Given the description of an element on the screen output the (x, y) to click on. 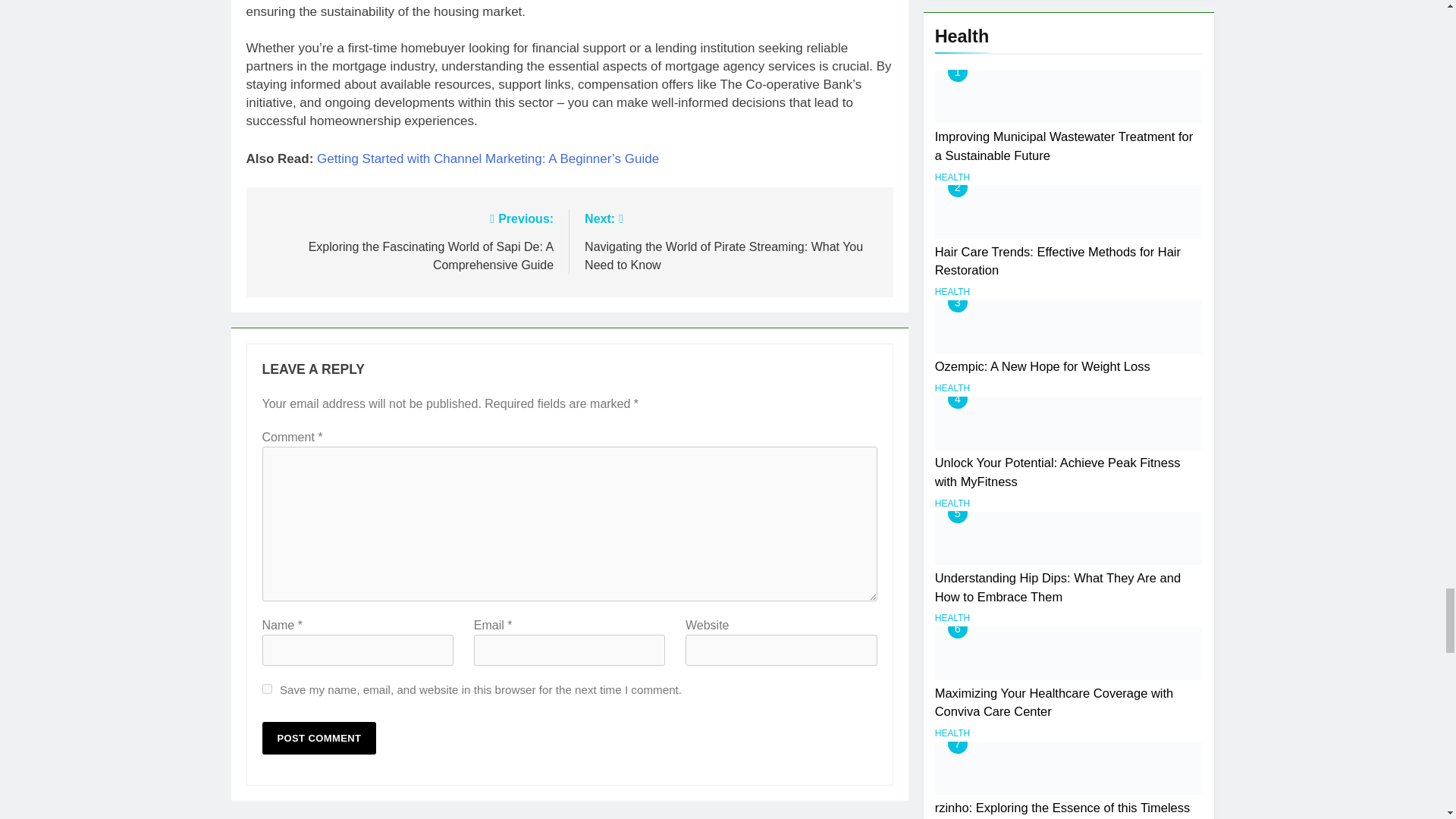
yes (267, 688)
Post Comment (319, 737)
Post Comment (319, 737)
